Given the description of an element on the screen output the (x, y) to click on. 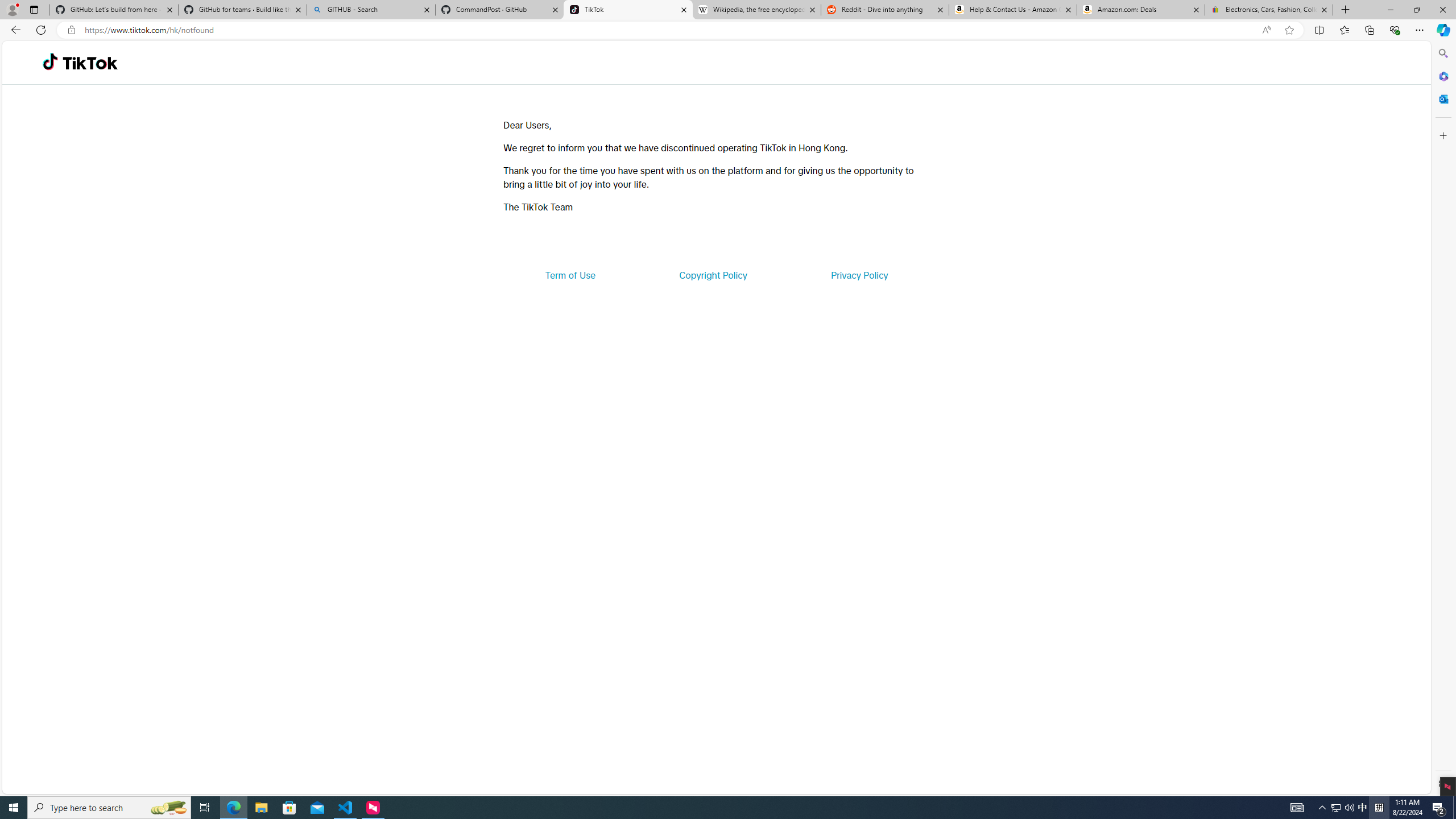
Electronics, Cars, Fashion, Collectibles & More | eBay (1268, 9)
Copyright Policy (712, 274)
TikTok (628, 9)
GITHUB - Search (370, 9)
Privacy Policy (858, 274)
Wikipedia, the free encyclopedia (756, 9)
